Given the description of an element on the screen output the (x, y) to click on. 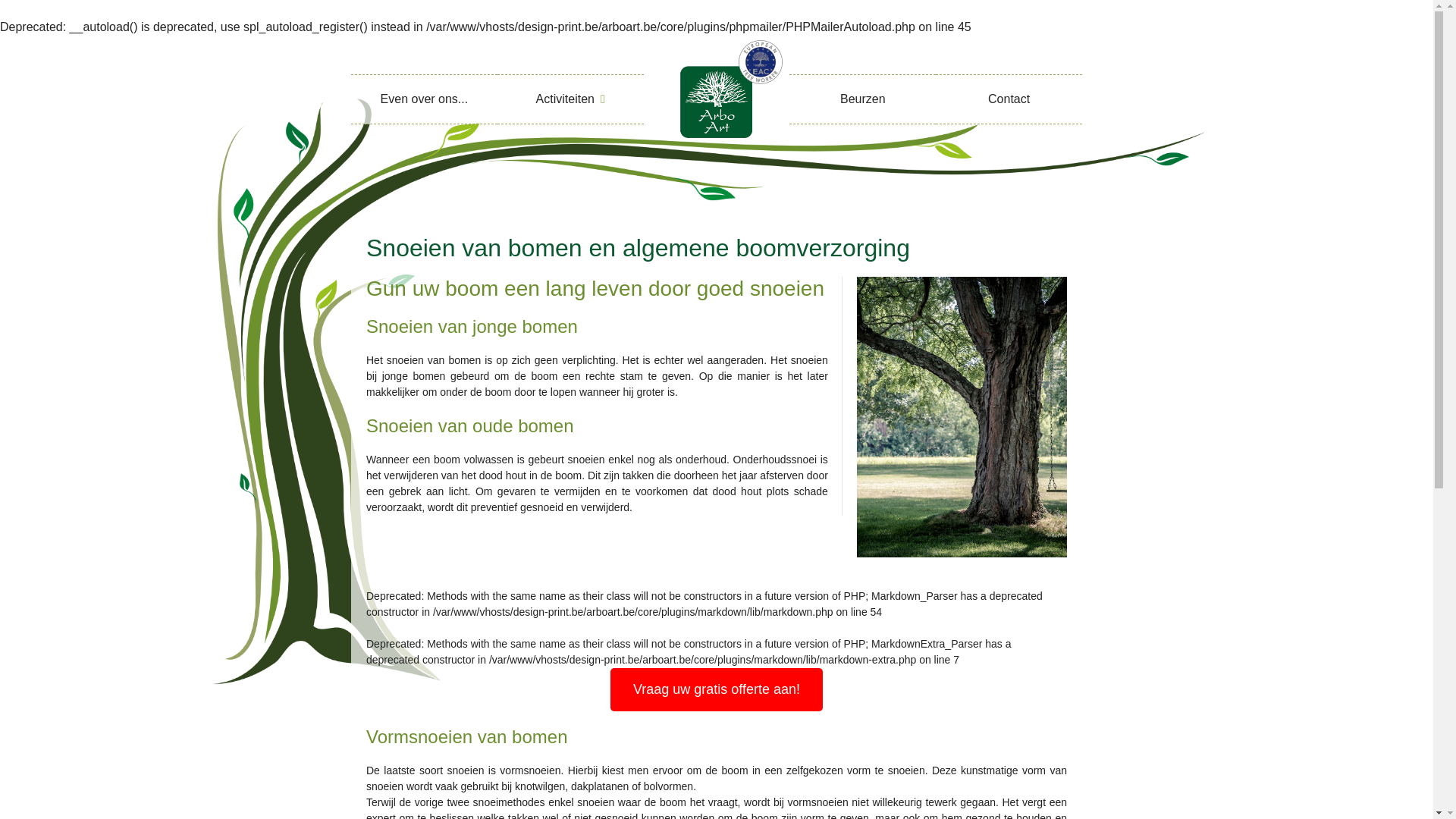
Vraag uw gratis offerte aan! Element type: text (716, 689)
Beurzen Element type: text (862, 99)
Even over ons... Element type: text (424, 99)
Activiteiten Element type: text (570, 99)
Contact Element type: text (1008, 99)
